Given the description of an element on the screen output the (x, y) to click on. 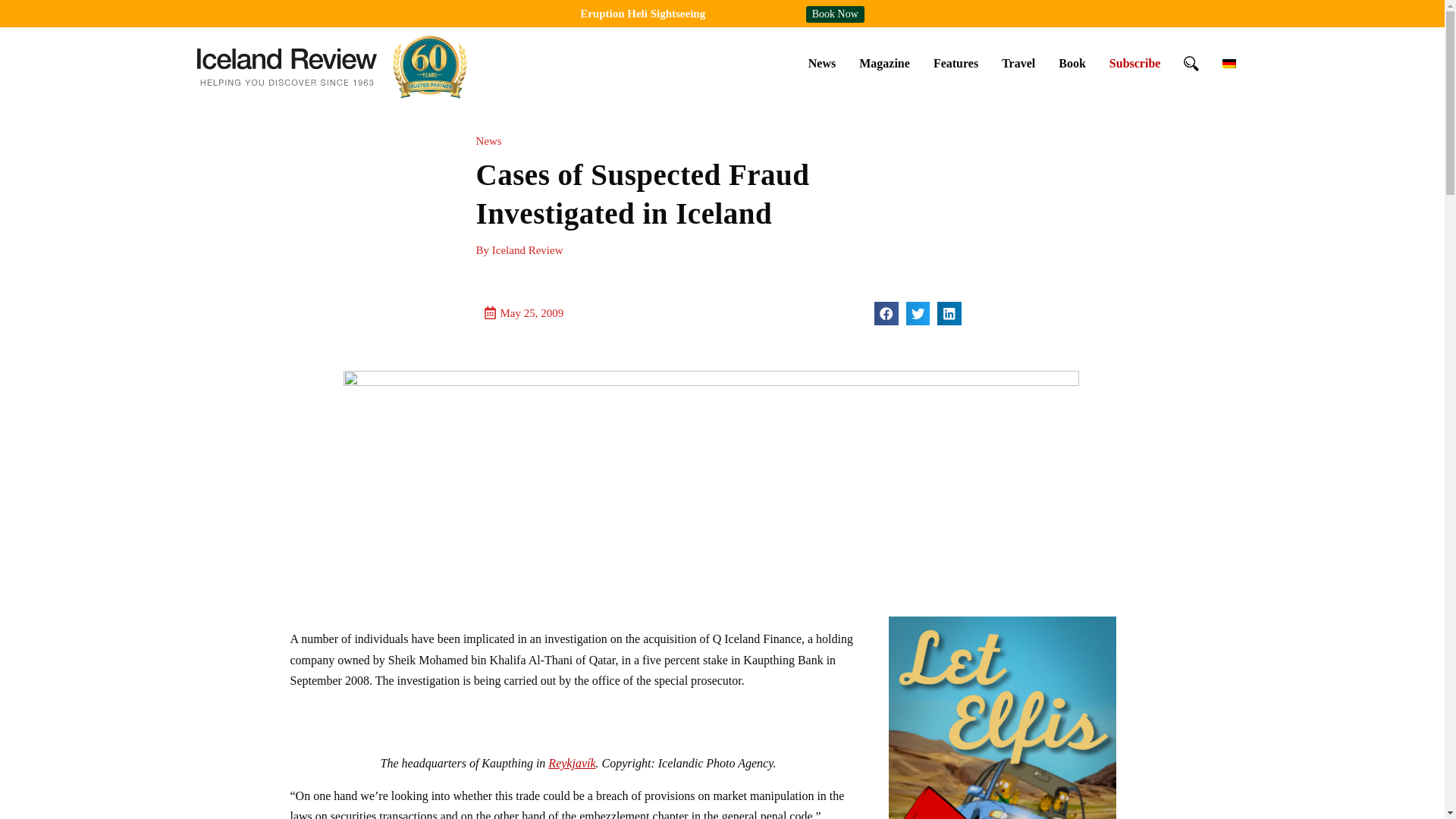
Magazine (884, 63)
Travel (1018, 63)
Eruption Heli Sightseeing (641, 13)
News (821, 63)
Subscribe (1134, 63)
Features (955, 63)
Book Now (835, 13)
Book (1071, 63)
